Given the description of an element on the screen output the (x, y) to click on. 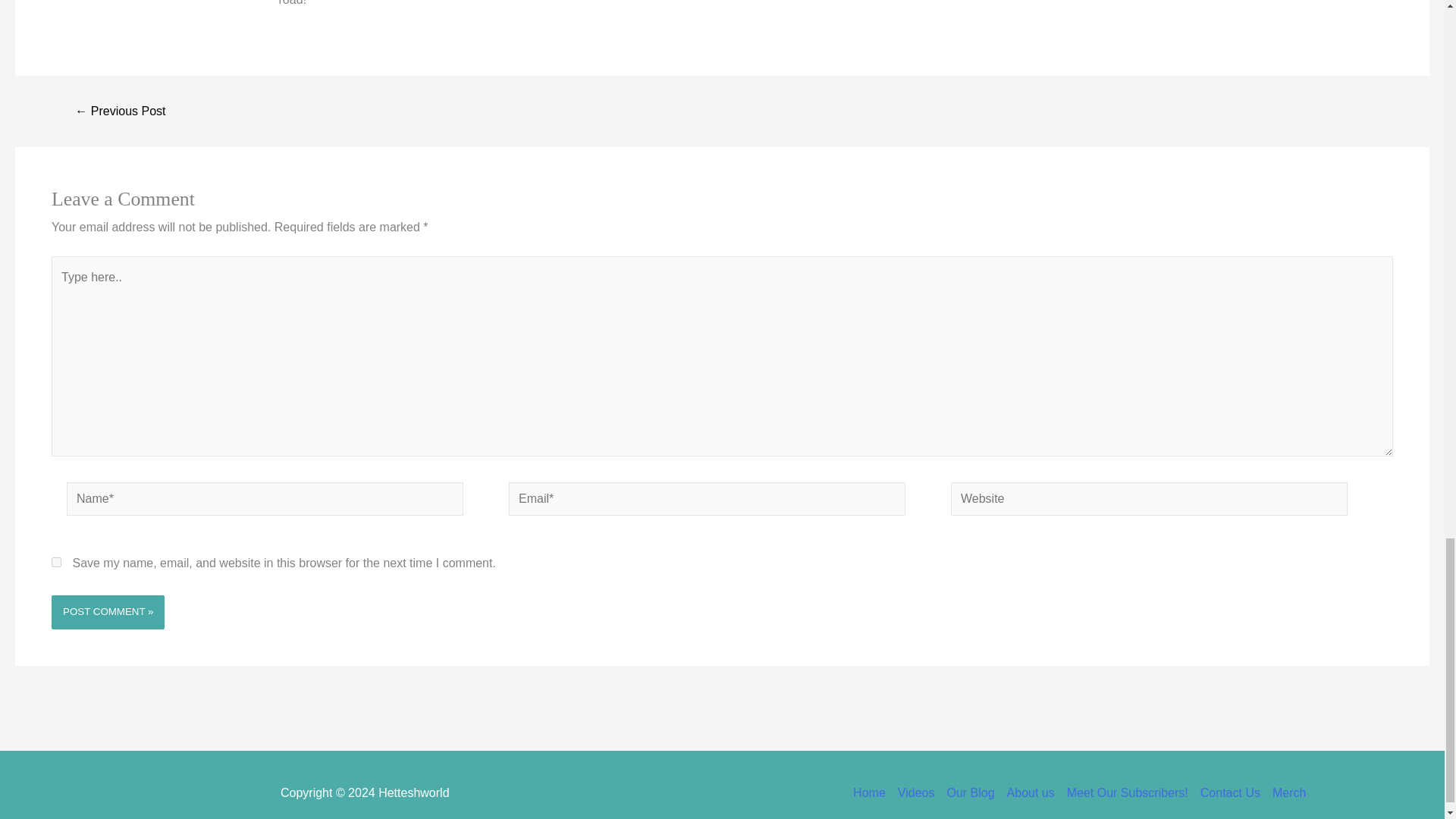
About us (1031, 793)
Home (872, 793)
Merch (1286, 793)
Meet Our Subscribers! (1127, 793)
Setup and Shutdown Checklist (119, 111)
Videos (915, 793)
Contact Us (1229, 793)
Our Blog (970, 793)
yes (55, 562)
